Given the description of an element on the screen output the (x, y) to click on. 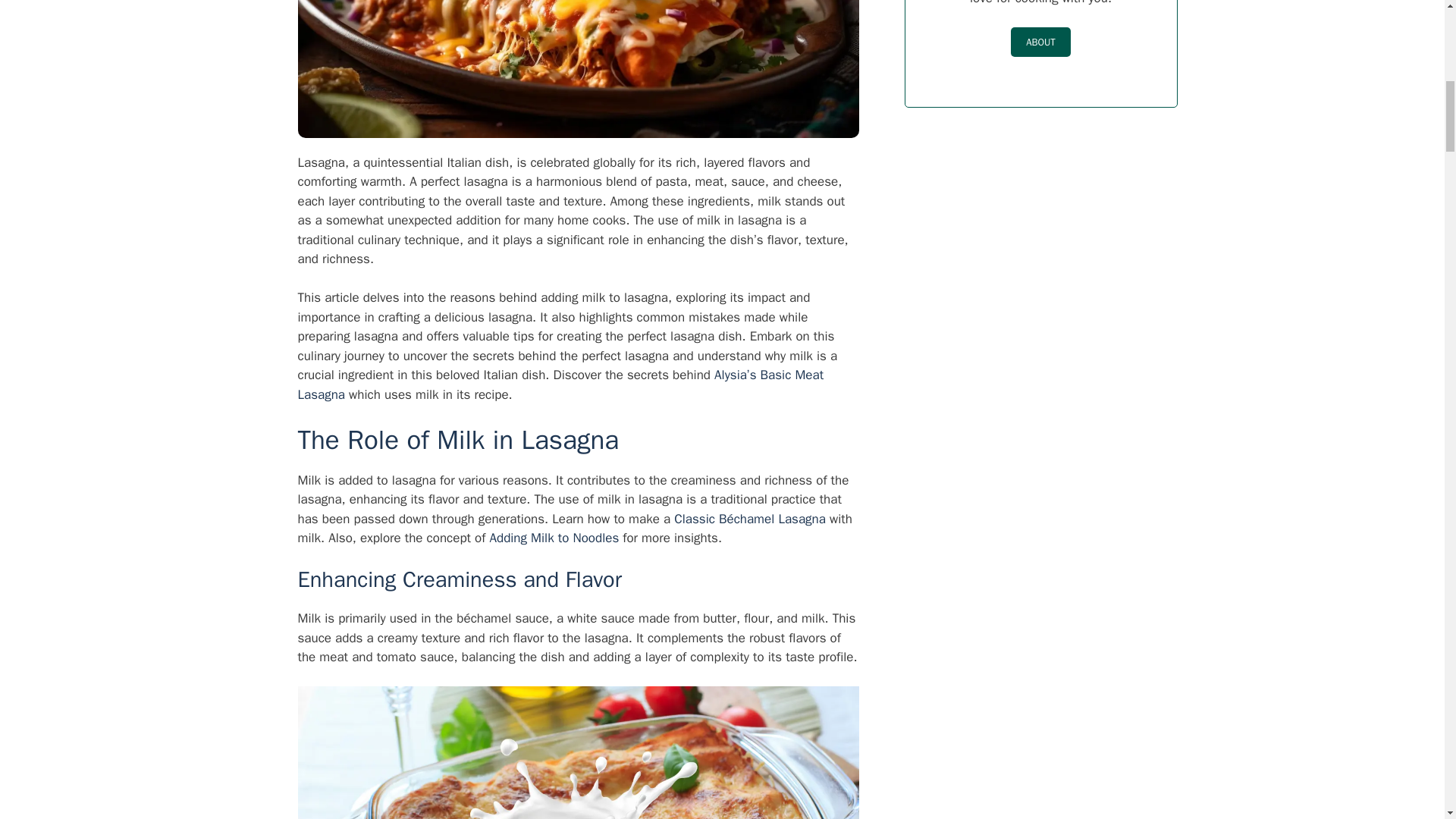
Scroll back to top (1406, 720)
ABOUT (1040, 42)
Adding Milk to Noodles (553, 537)
